Given the description of an element on the screen output the (x, y) to click on. 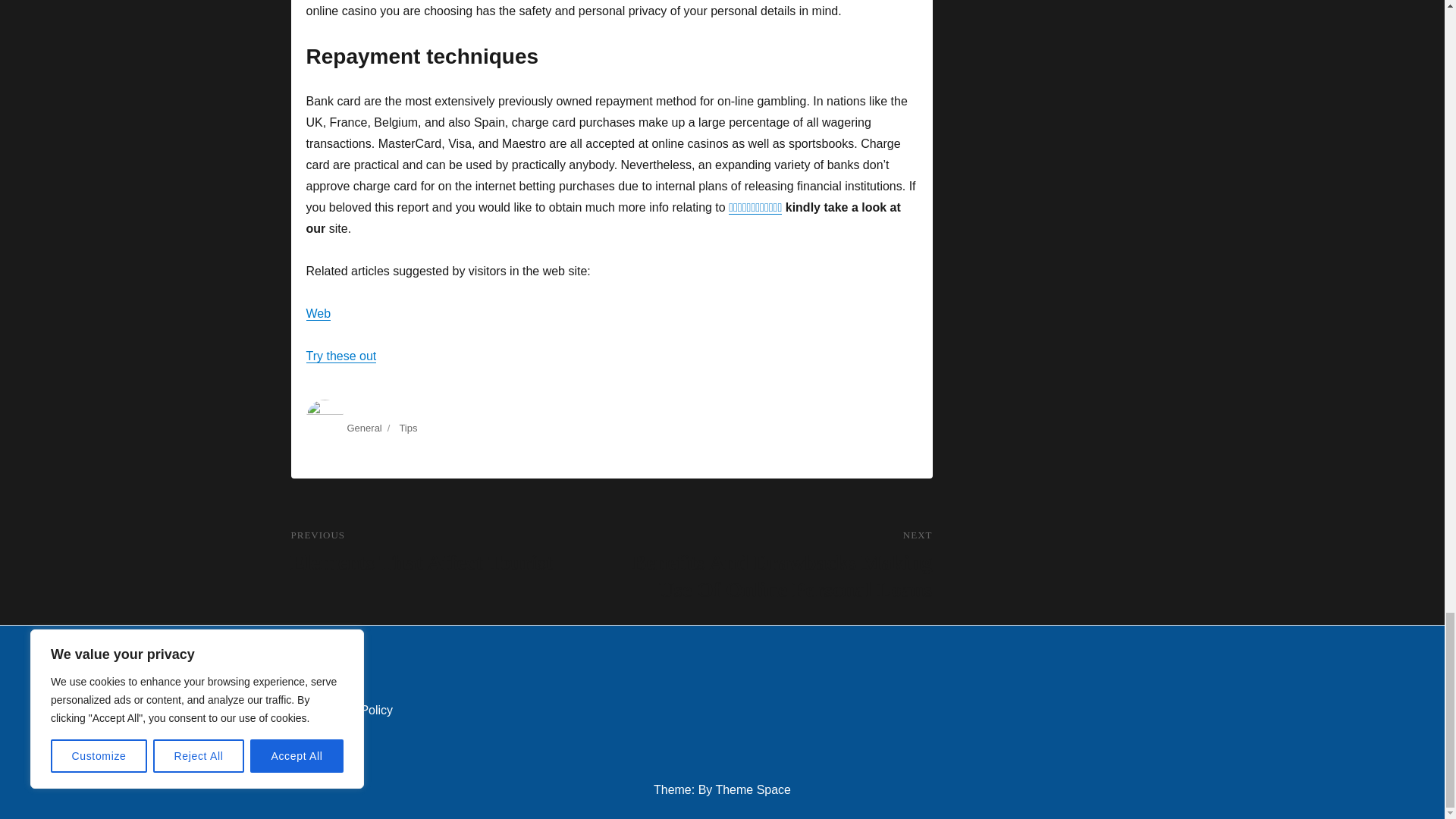
Try these out (341, 355)
General (364, 428)
Tips (407, 428)
Web (318, 313)
